Given the description of an element on the screen output the (x, y) to click on. 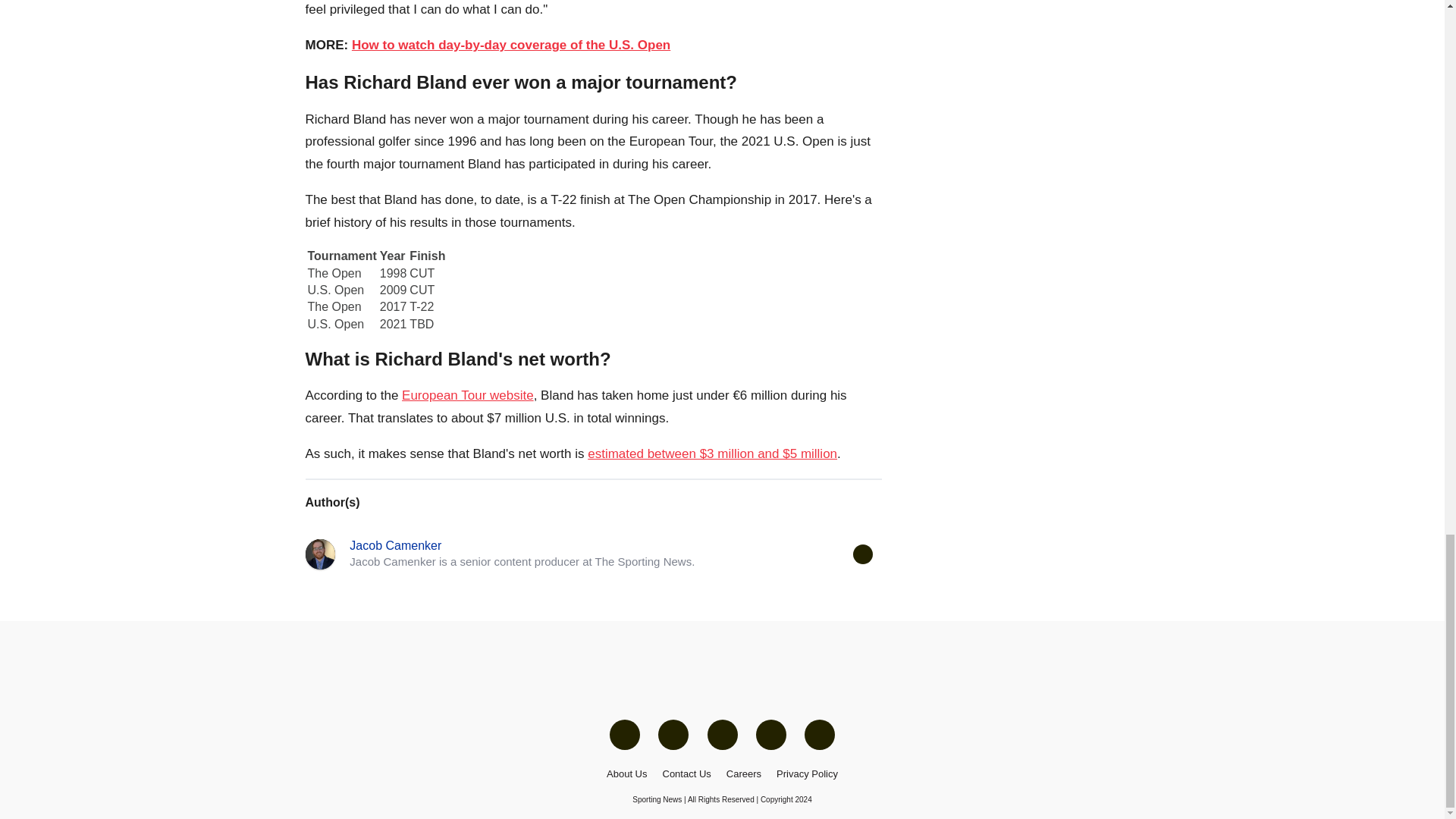
Open the author page on Twitter (861, 554)
